Given the description of an element on the screen output the (x, y) to click on. 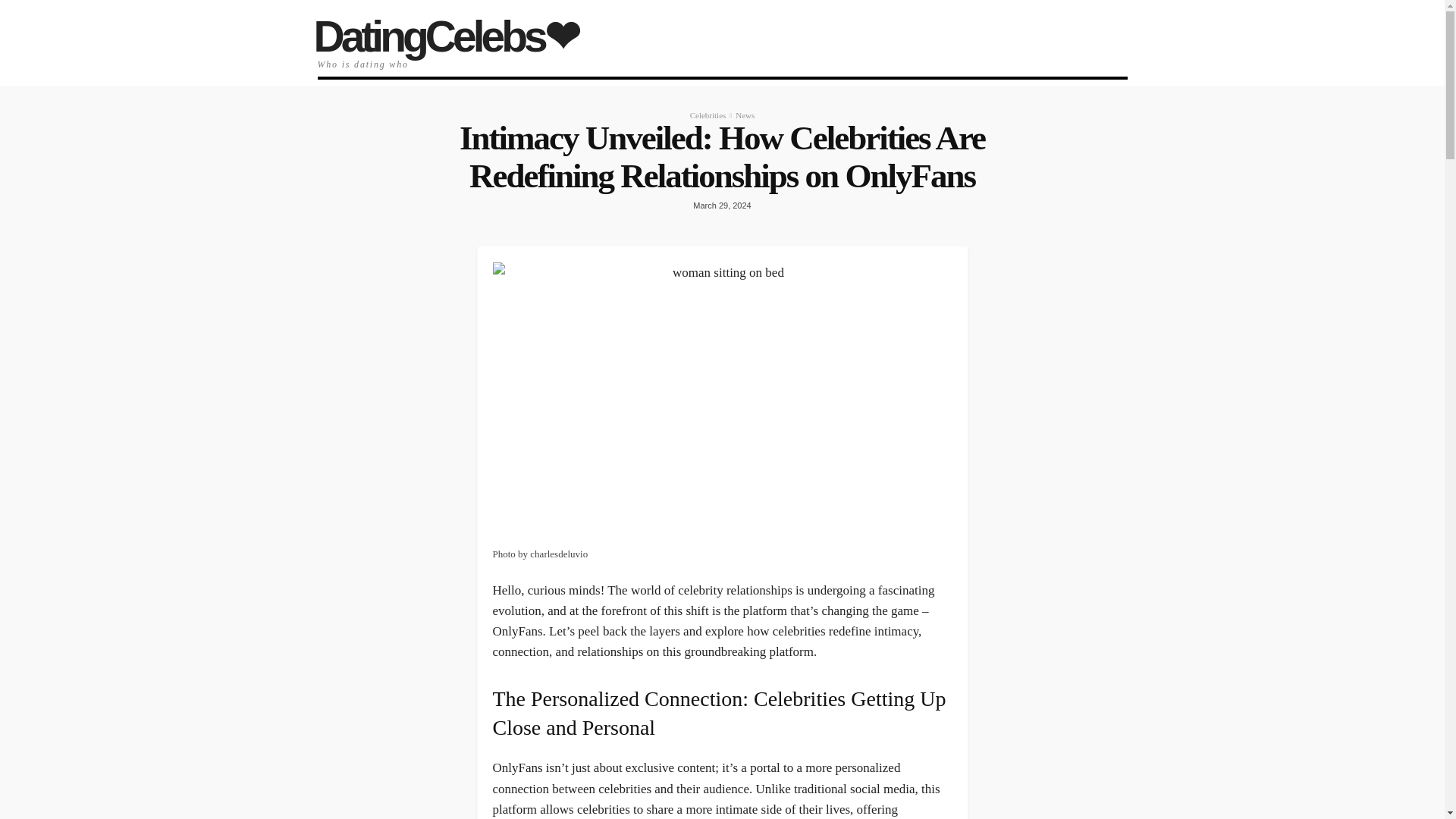
News (744, 114)
Celebrities (708, 114)
View all posts in News (744, 114)
